Given the description of an element on the screen output the (x, y) to click on. 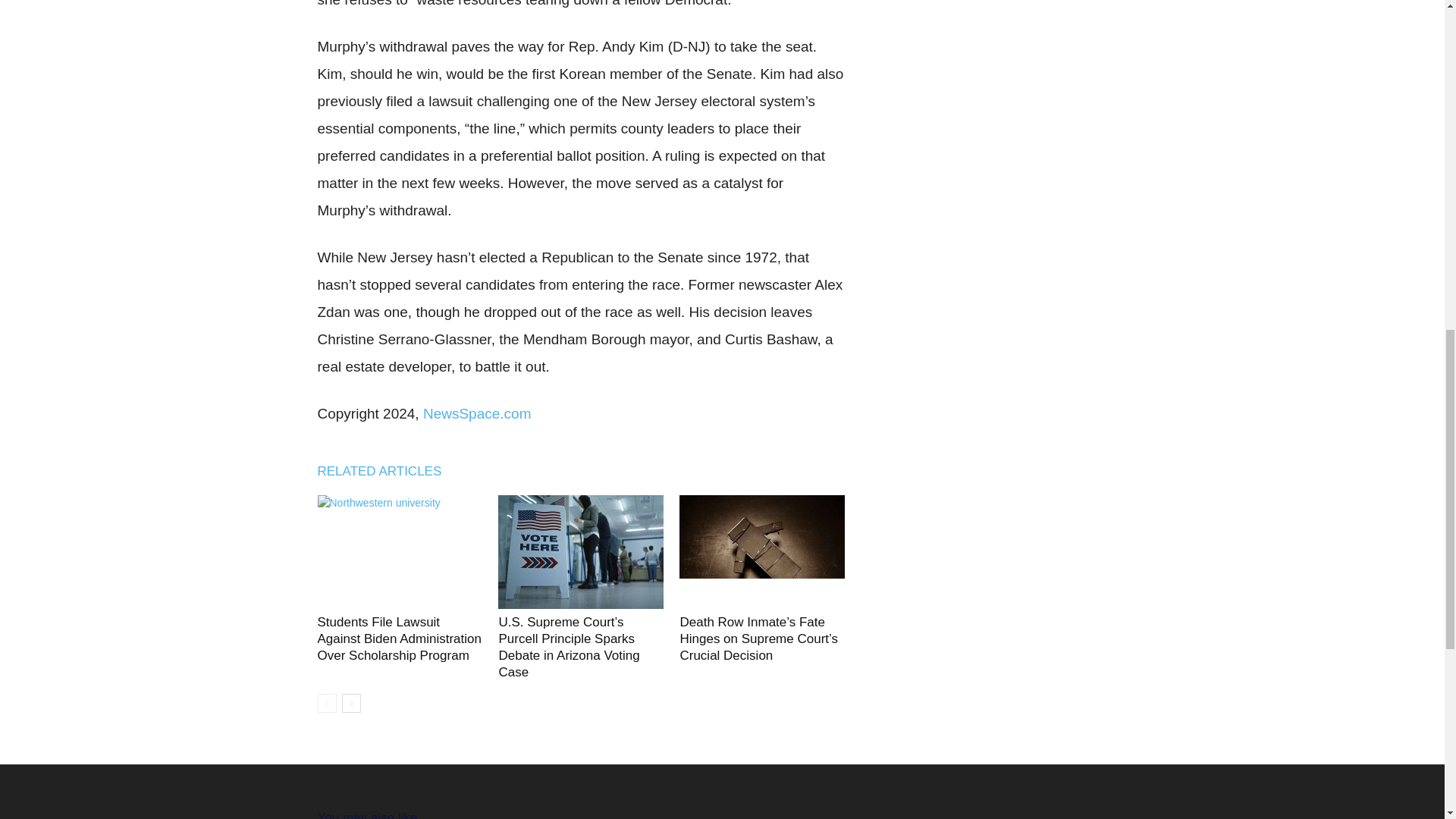
NewsSpace.com (477, 413)
RELATED ARTICLES (387, 471)
